Given the description of an element on the screen output the (x, y) to click on. 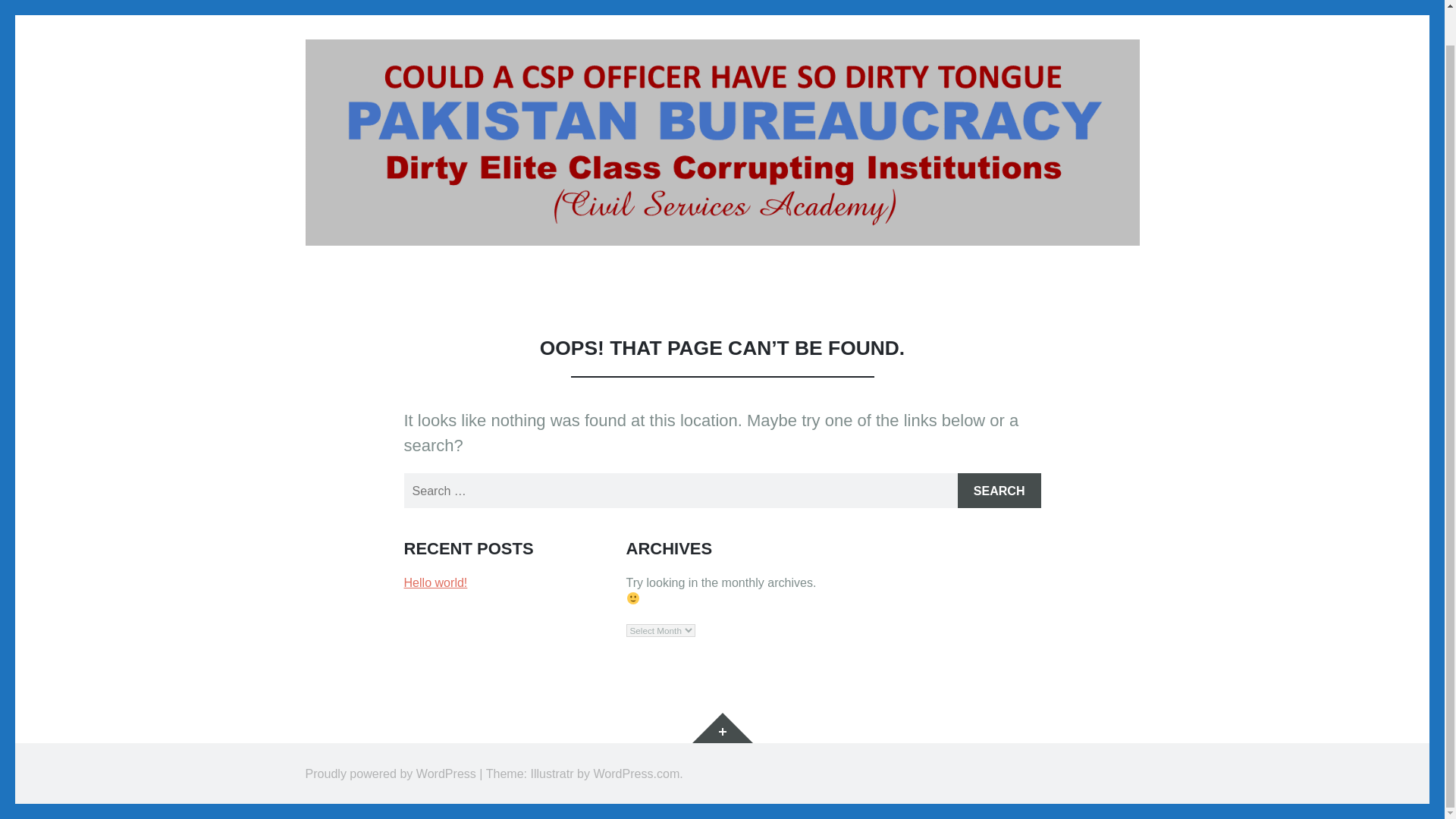
Hello world! (435, 581)
WordPress.com (635, 773)
Widgets (721, 727)
Search (999, 490)
Search (999, 490)
Search (999, 490)
Proudly powered by WordPress (390, 773)
